Given the description of an element on the screen output the (x, y) to click on. 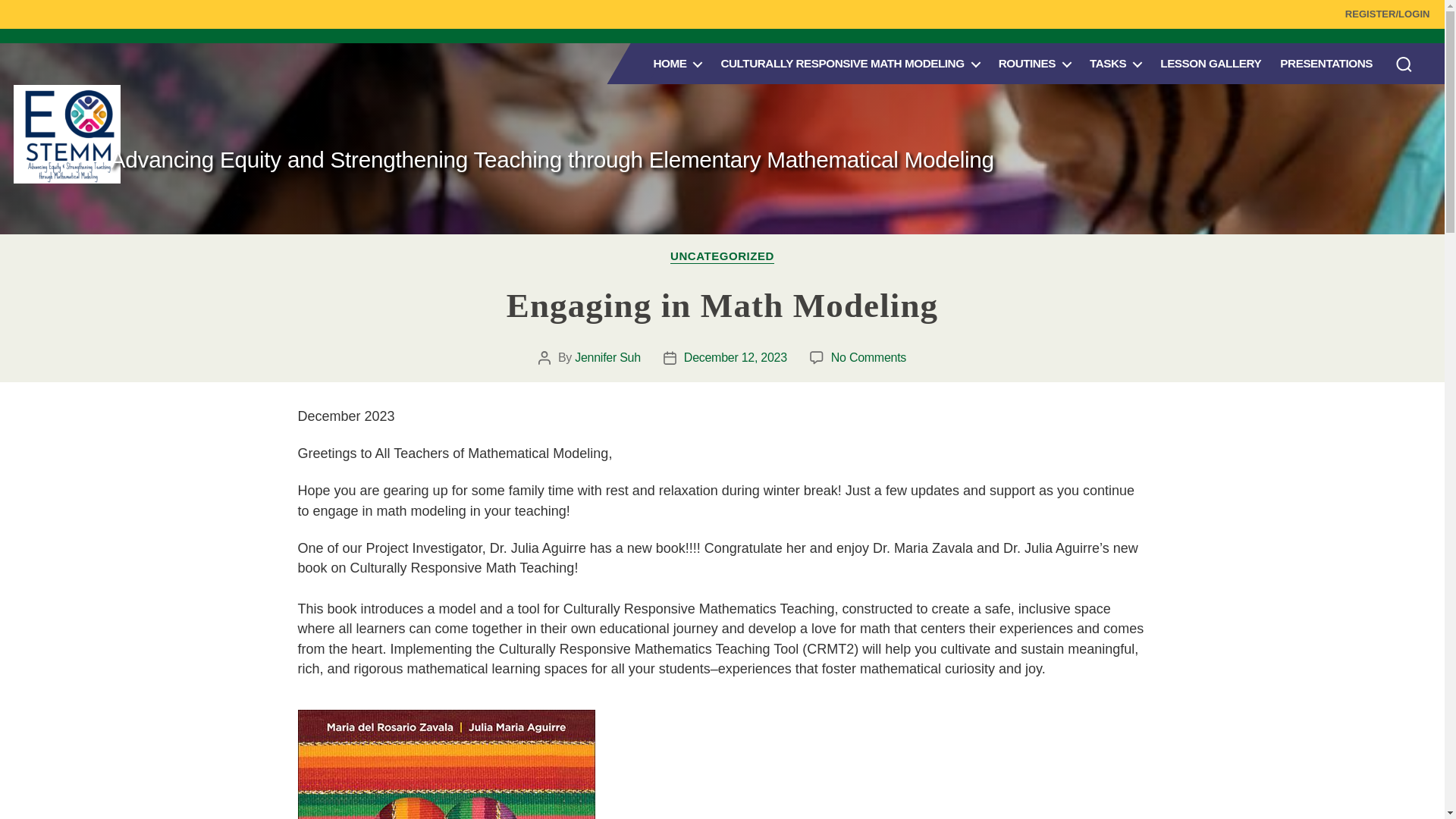
CULTURALLY RESPONSIVE MATH MODELING (849, 63)
LESSON GALLERY (1210, 63)
HOME (676, 63)
PRESENTATIONS (1326, 63)
TASKS (1115, 63)
ROUTINES (1034, 63)
